Given the description of an element on the screen output the (x, y) to click on. 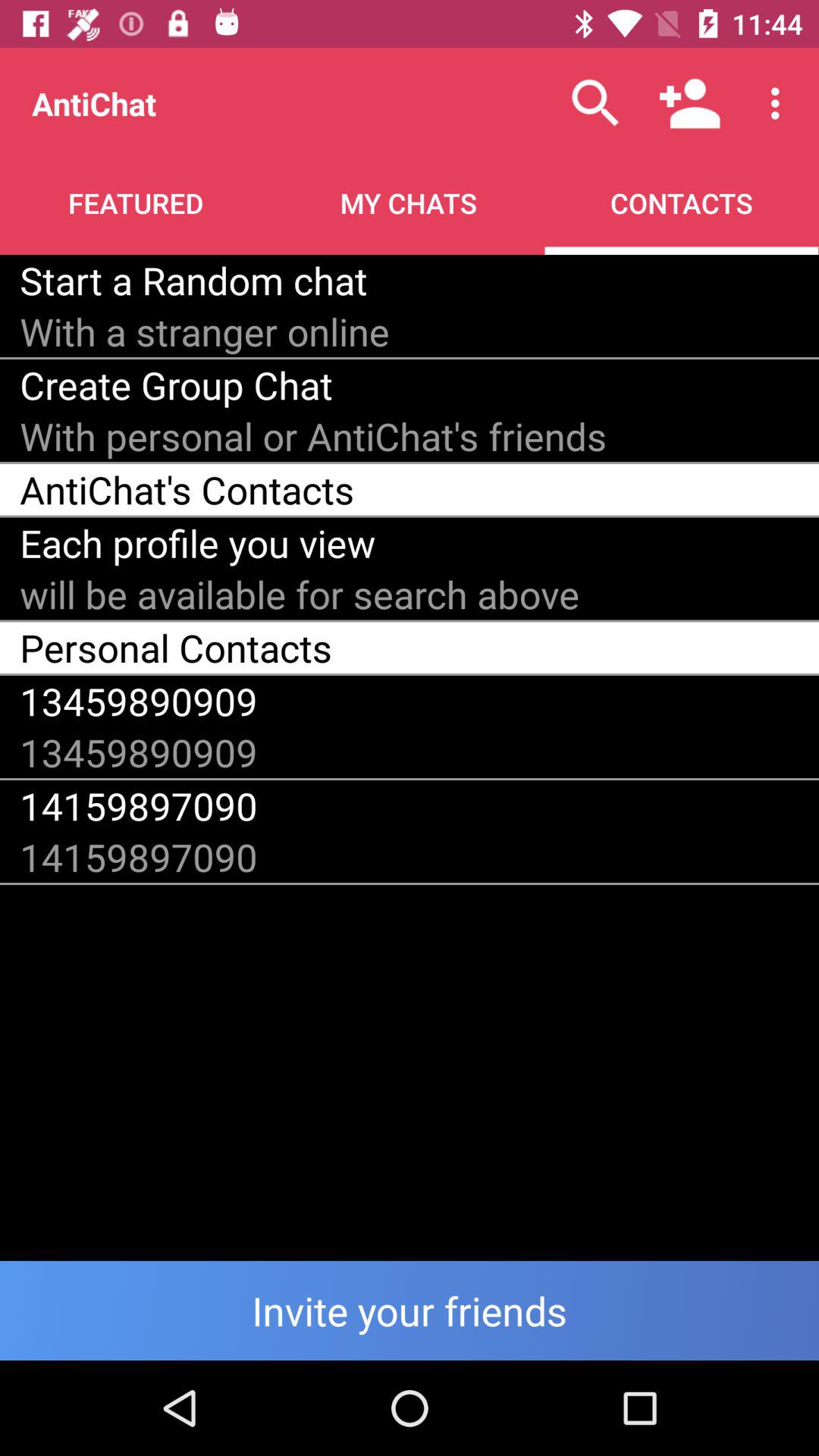
click the icon above personal contacts (299, 593)
